Given the description of an element on the screen output the (x, y) to click on. 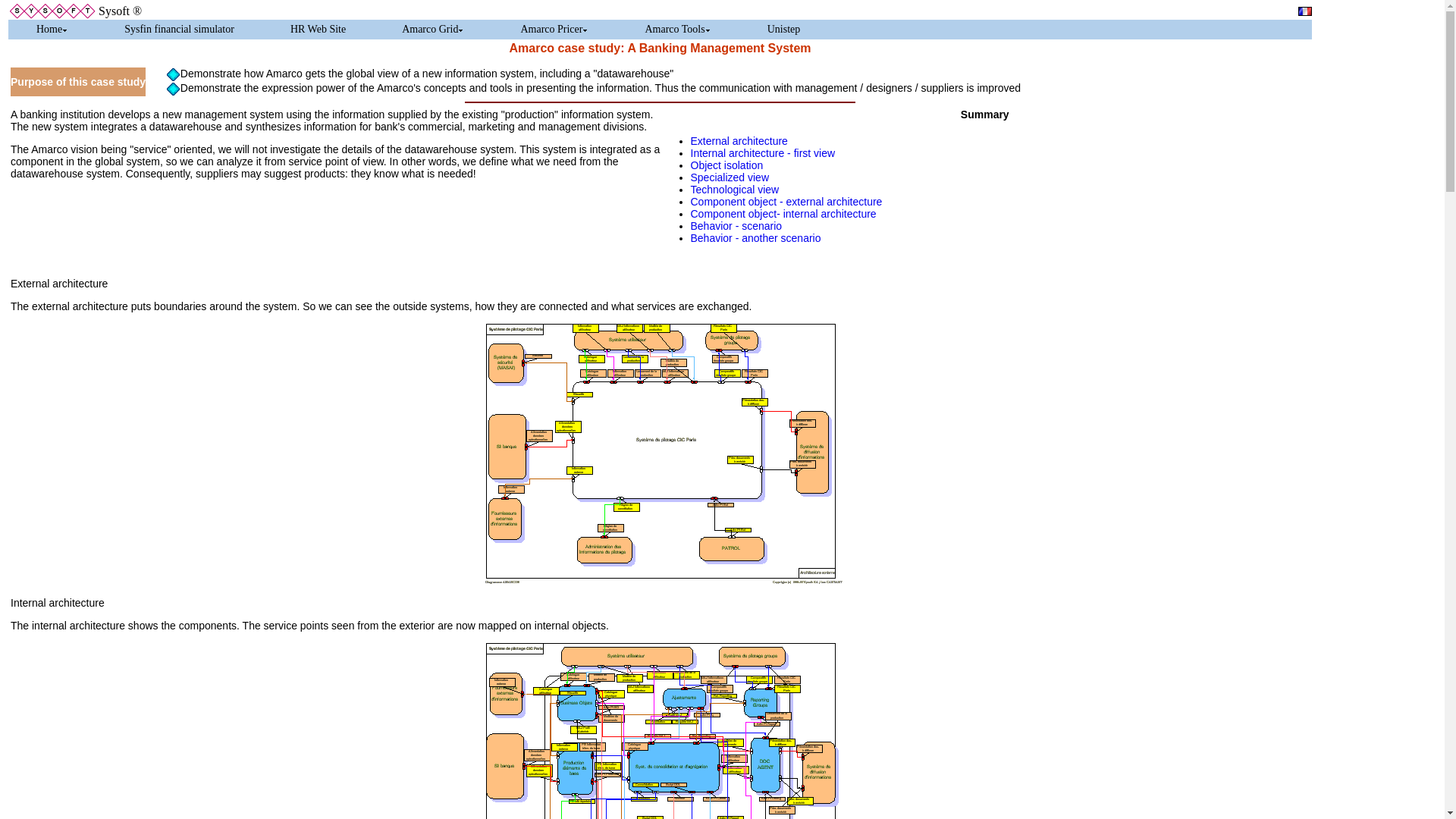
Technological view (734, 189)
Object isolation (726, 164)
HR Web Site (317, 29)
Component object- internal architecture (783, 214)
Amarco Grid (432, 29)
Unistep (783, 29)
Internal architecture - first view (762, 152)
Behavior - another scenario (755, 237)
External architecture (738, 141)
Specialized view (729, 177)
Amarco Tools (677, 29)
Component object - external architecture (786, 201)
Behavior - scenario (735, 225)
Home (52, 29)
Sysfin financial simulator (178, 29)
